Given the description of an element on the screen output the (x, y) to click on. 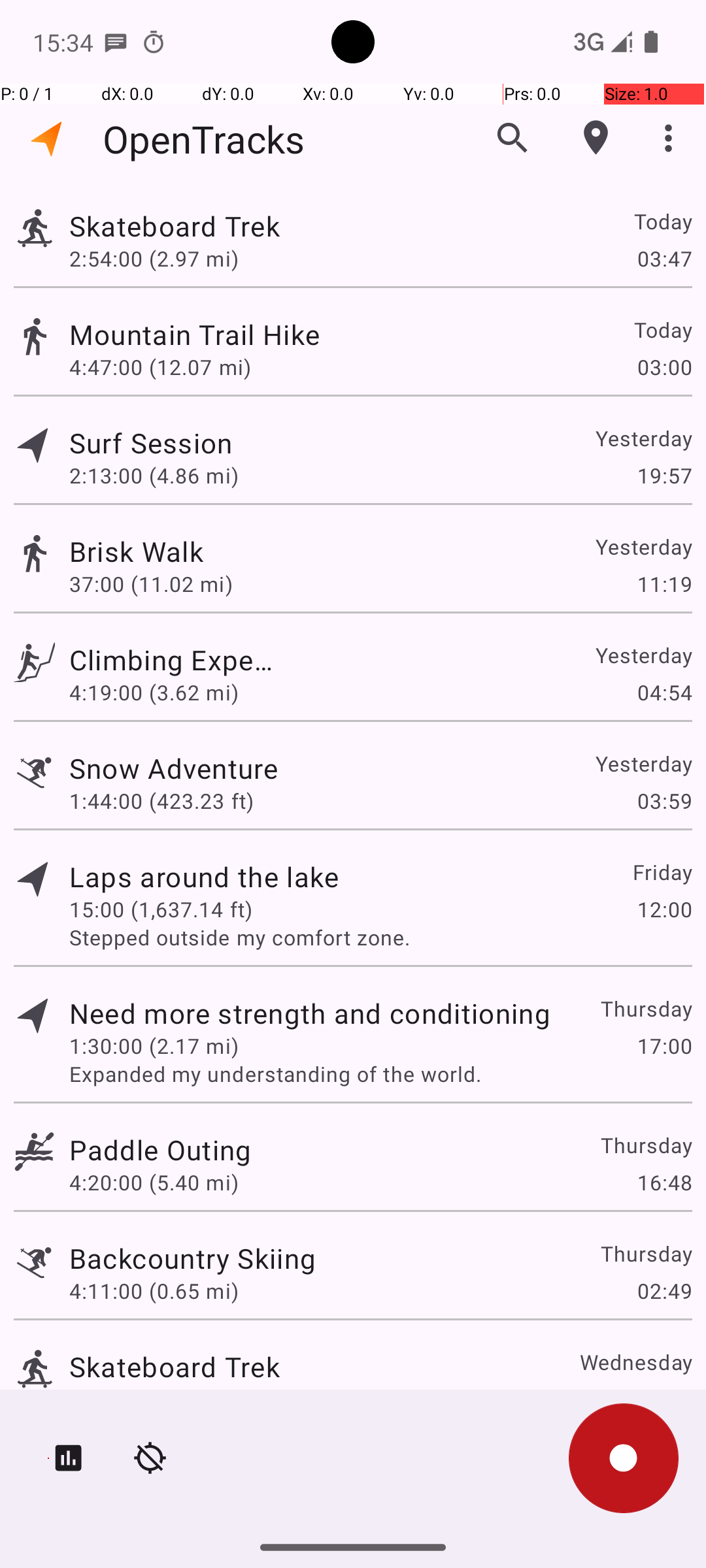
Skateboard Trek Element type: android.widget.TextView (203, 225)
2:54:00 (2.97 mi) Element type: android.widget.TextView (160, 258)
03:47 Element type: android.widget.TextView (664, 258)
Mountain Trail Hike Element type: android.widget.TextView (309, 333)
4:47:00 (12.07 mi) Element type: android.widget.TextView (159, 366)
03:00 Element type: android.widget.TextView (664, 366)
Surf Session Element type: android.widget.TextView (159, 442)
2:13:00 (4.86 mi) Element type: android.widget.TextView (153, 475)
19:57 Element type: android.widget.TextView (664, 475)
Brisk Walk Element type: android.widget.TextView (192, 550)
37:00 (11.02 mi) Element type: android.widget.TextView (153, 583)
11:19 Element type: android.widget.TextView (664, 583)
Climbing Expedition Element type: android.widget.TextView (174, 659)
4:19:00 (3.62 mi) Element type: android.widget.TextView (153, 692)
04:54 Element type: android.widget.TextView (664, 692)
Snow Adventure Element type: android.widget.TextView (173, 767)
1:44:00 (423.23 ft) Element type: android.widget.TextView (161, 800)
03:59 Element type: android.widget.TextView (664, 800)
Laps around the lake Element type: android.widget.TextView (203, 876)
15:00 (1,637.14 ft) Element type: android.widget.TextView (160, 909)
Stepped outside my comfort zone. Element type: android.widget.TextView (380, 937)
Need more strength and conditioning Element type: android.widget.TextView (309, 1012)
1:30:00 (2.17 mi) Element type: android.widget.TextView (153, 1045)
Expanded my understanding of the world. Element type: android.widget.TextView (380, 1073)
Paddle Outing Element type: android.widget.TextView (159, 1149)
4:20:00 (5.40 mi) Element type: android.widget.TextView (153, 1182)
16:48 Element type: android.widget.TextView (664, 1182)
Backcountry Skiing Element type: android.widget.TextView (192, 1257)
4:11:00 (0.65 mi) Element type: android.widget.TextView (153, 1290)
02:49 Element type: android.widget.TextView (664, 1290)
4:39:00 (7.04 mi) Element type: android.widget.TextView (153, 1399)
12:40 Element type: android.widget.TextView (664, 1399)
